Given the description of an element on the screen output the (x, y) to click on. 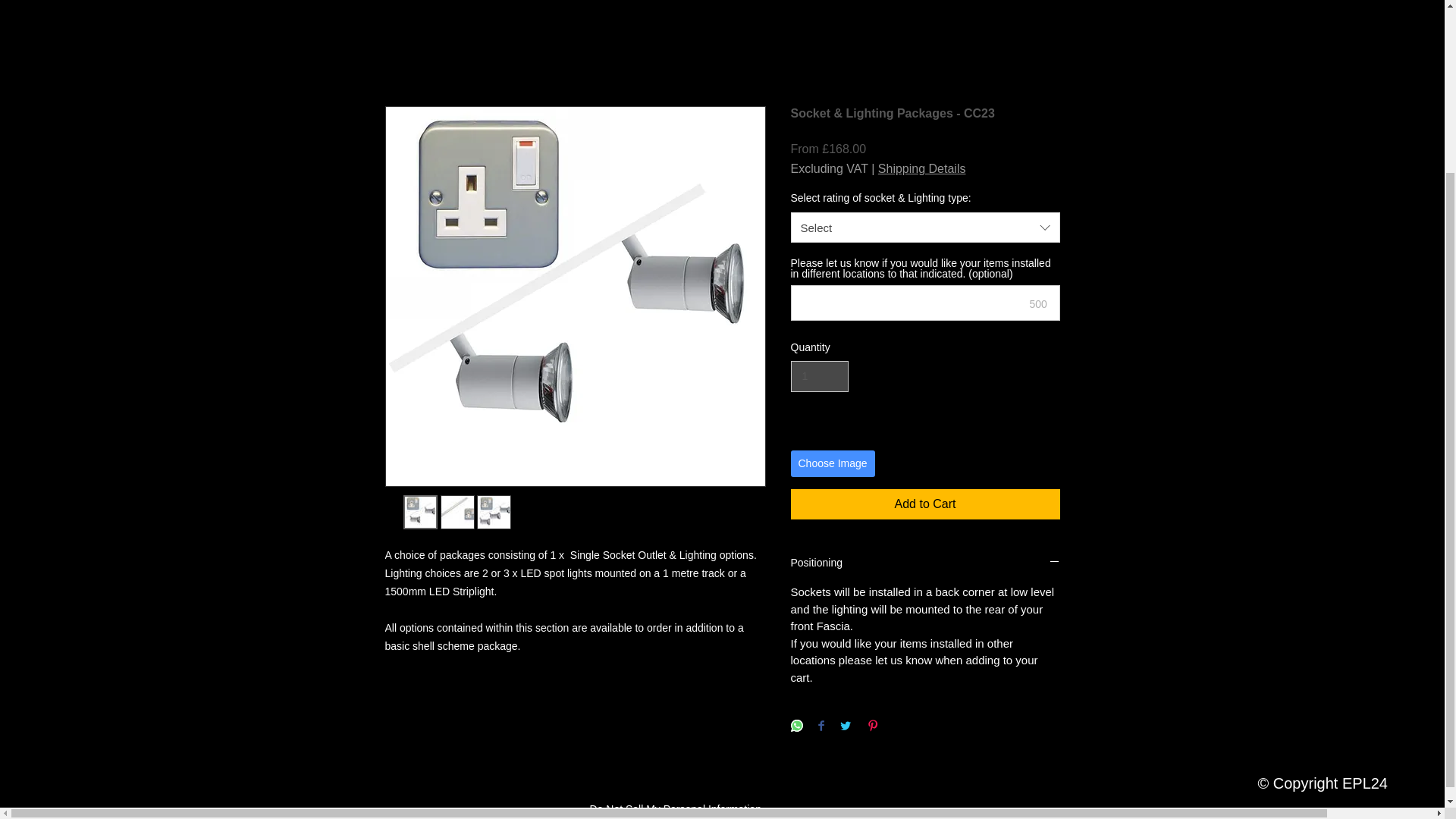
Choose Image (832, 463)
Positioning (924, 563)
Do Not Sell My Personal Information (675, 809)
Shipping Details (921, 169)
Select (924, 227)
Add to Cart (924, 503)
1 (818, 376)
